Given the description of an element on the screen output the (x, y) to click on. 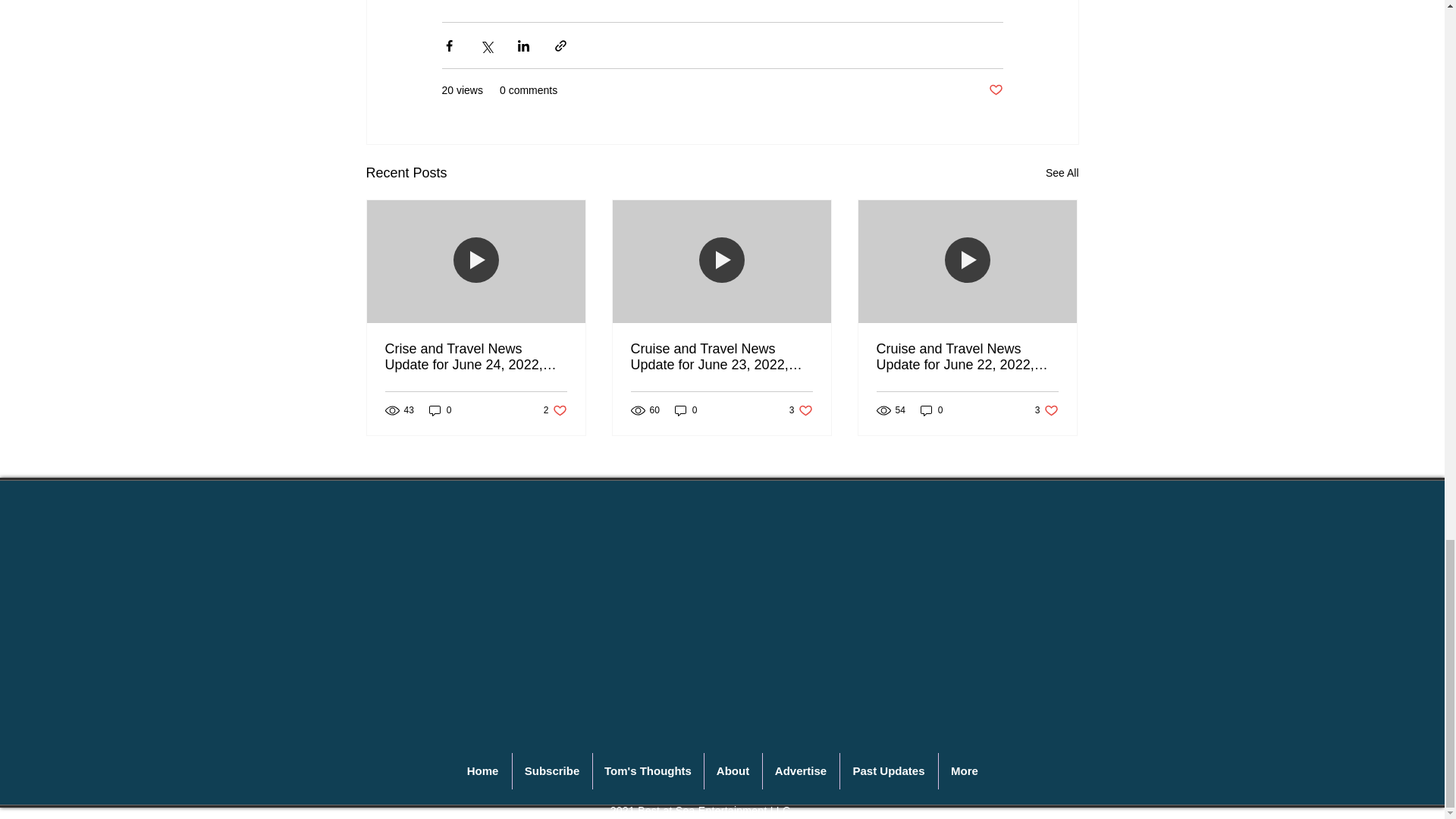
Tom's Thoughts (647, 770)
Home (481, 770)
Subscribe (552, 770)
About (555, 409)
0 (732, 770)
0 (440, 409)
Post not marked as liked (931, 409)
0 (800, 409)
See All (1046, 409)
